Given the description of an element on the screen output the (x, y) to click on. 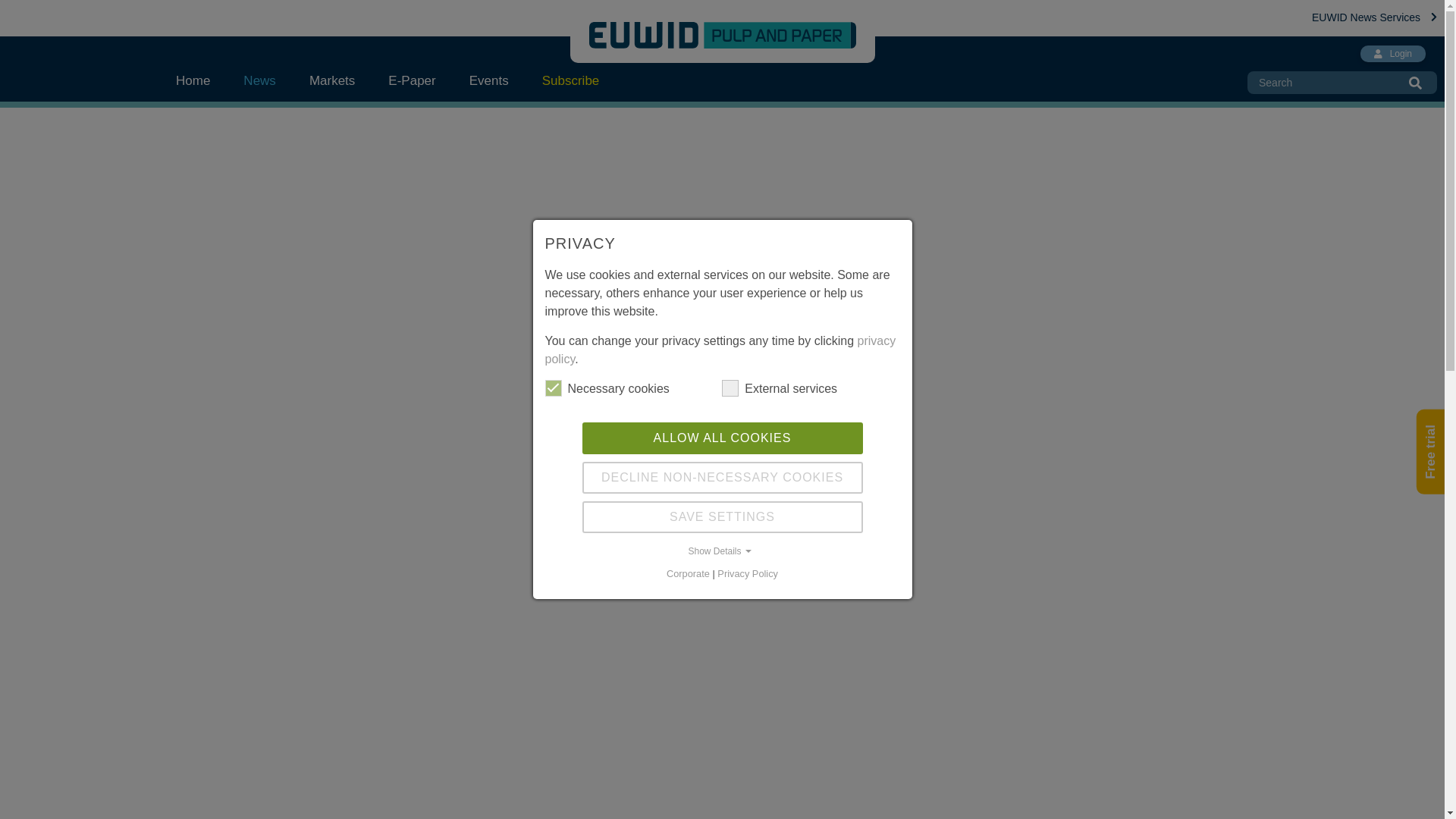
E-Paper (411, 80)
Home (201, 80)
Subscribe (570, 80)
EUWID News Services (1374, 17)
News (259, 80)
Login (1392, 53)
Markets (331, 80)
Events (488, 80)
